Given the description of an element on the screen output the (x, y) to click on. 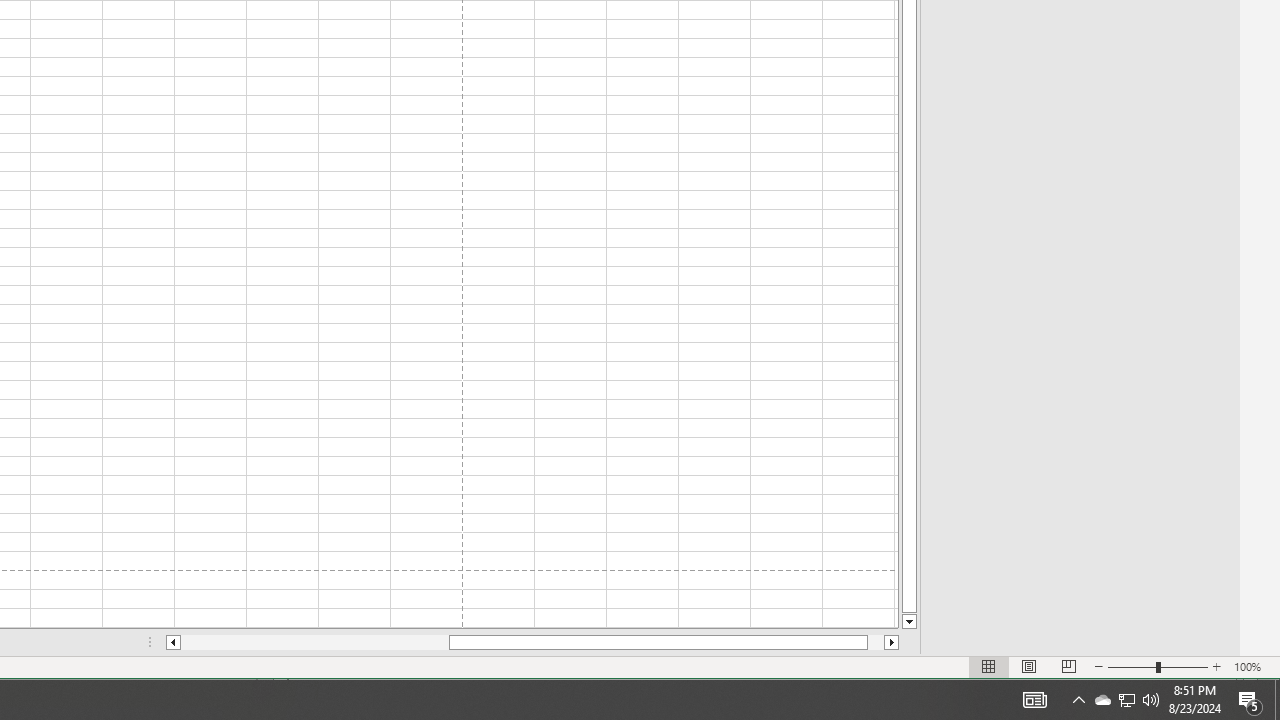
AutomationID: 4105 (1034, 699)
Action Center, 5 new notifications (1250, 699)
Notification Chevron (1078, 699)
